Given the description of an element on the screen output the (x, y) to click on. 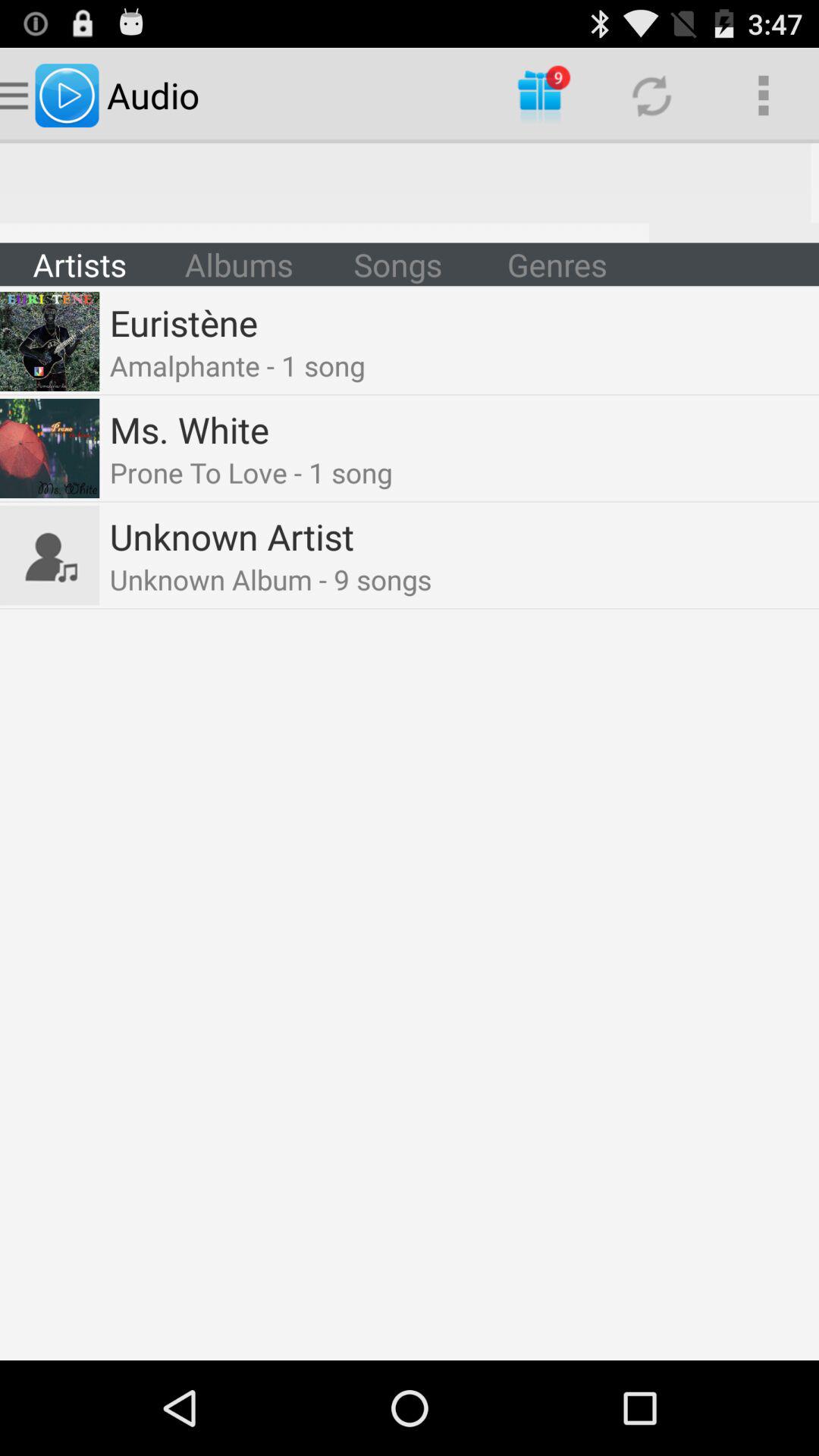
click icon to the right of the audio icon (540, 95)
